Given the description of an element on the screen output the (x, y) to click on. 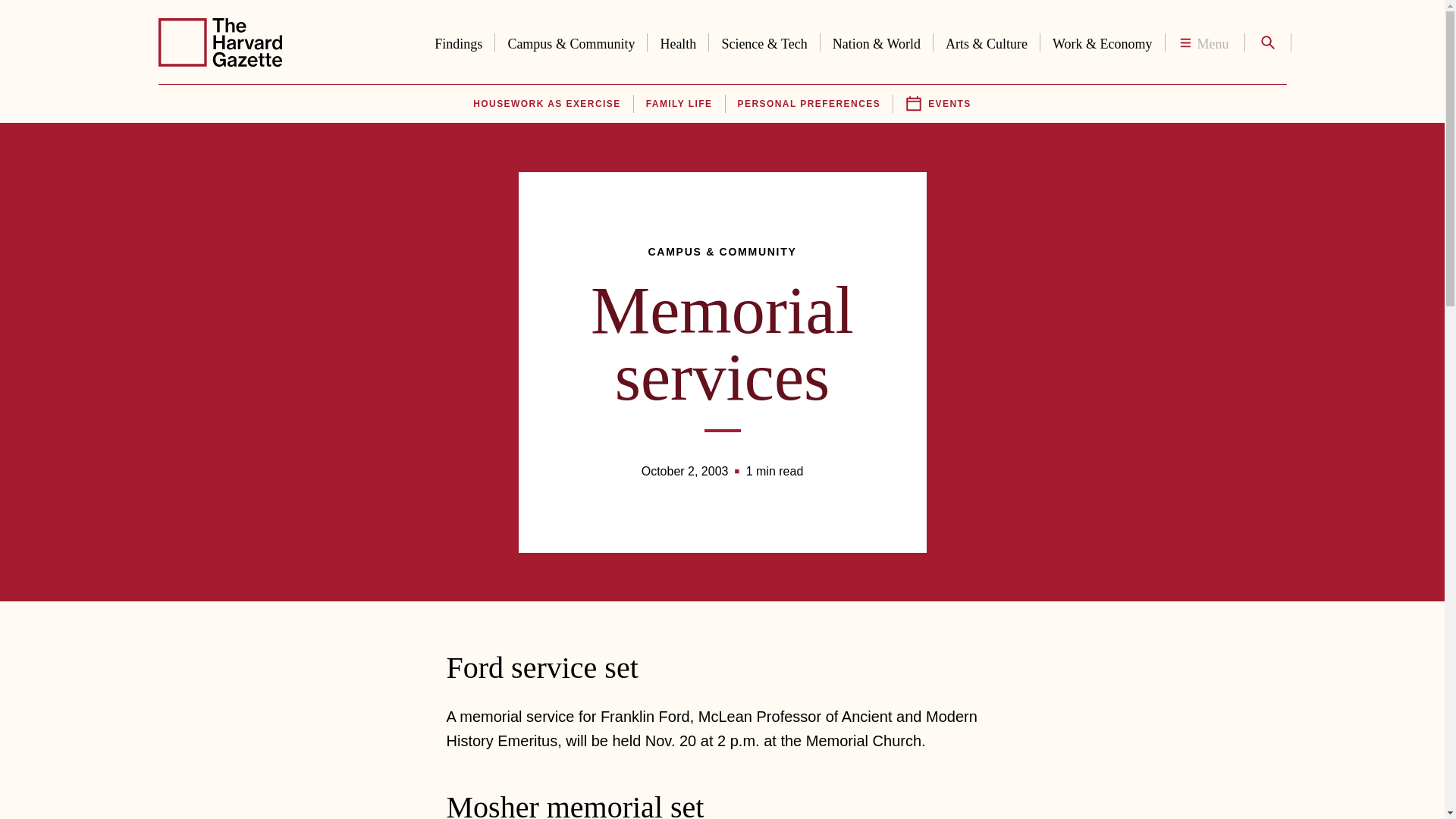
PERSONAL PREFERENCES (809, 103)
FAMILY LIFE (679, 103)
Findings (457, 41)
Health (677, 41)
HOUSEWORK AS EXERCISE (546, 103)
Menu (1204, 42)
